Given the description of an element on the screen output the (x, y) to click on. 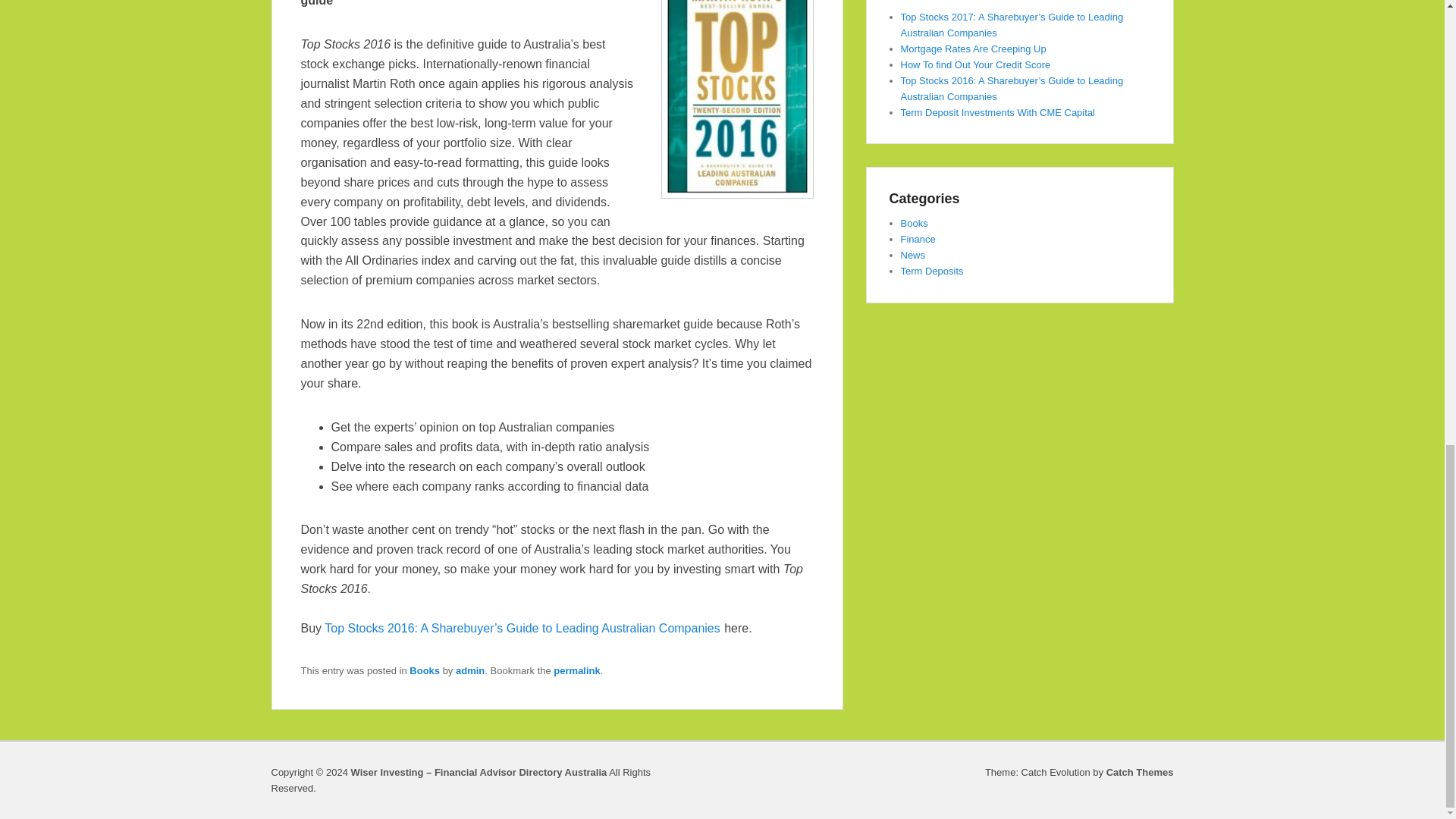
Term Deposit Investments With CME Capital (997, 112)
permalink (576, 670)
Catch Themes (1139, 772)
How To find Out Your Credit Score (976, 64)
Books (424, 670)
admin (469, 670)
Finance (918, 238)
Mortgage Rates Are Creeping Up (973, 48)
Catch Themes (1139, 772)
News (913, 255)
Books (914, 223)
Term Deposits (932, 270)
